Given the description of an element on the screen output the (x, y) to click on. 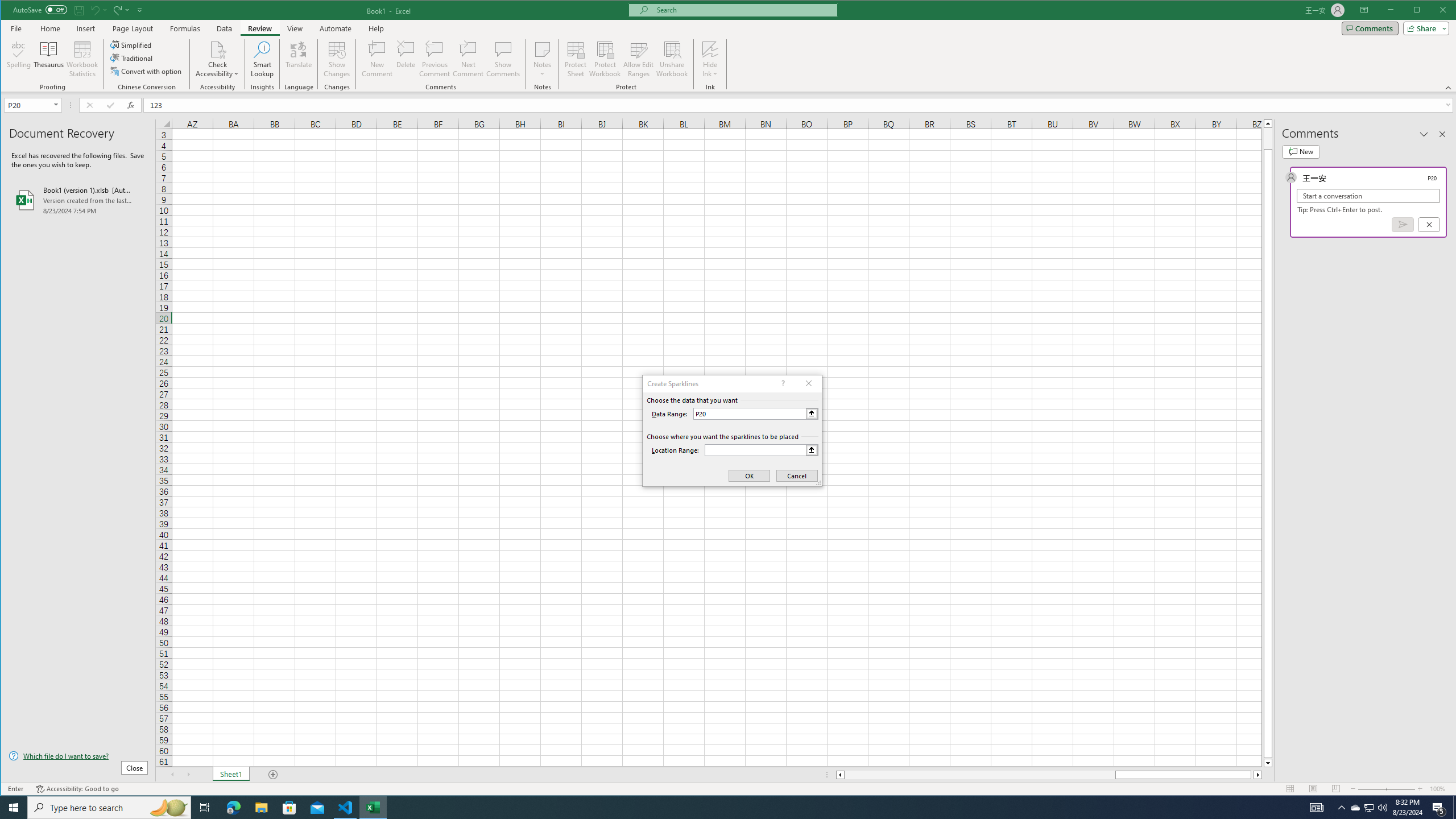
Line down (1267, 763)
Column left (839, 774)
Cancel (1428, 224)
View (294, 28)
Page left (979, 774)
Review (259, 28)
Protect Sheet... (575, 59)
Thesaurus... (48, 59)
Page Break Preview (1335, 788)
Translate (298, 59)
Collapse the Ribbon (1448, 87)
Accessibility Checker Accessibility: Good to go (77, 788)
